Given the description of an element on the screen output the (x, y) to click on. 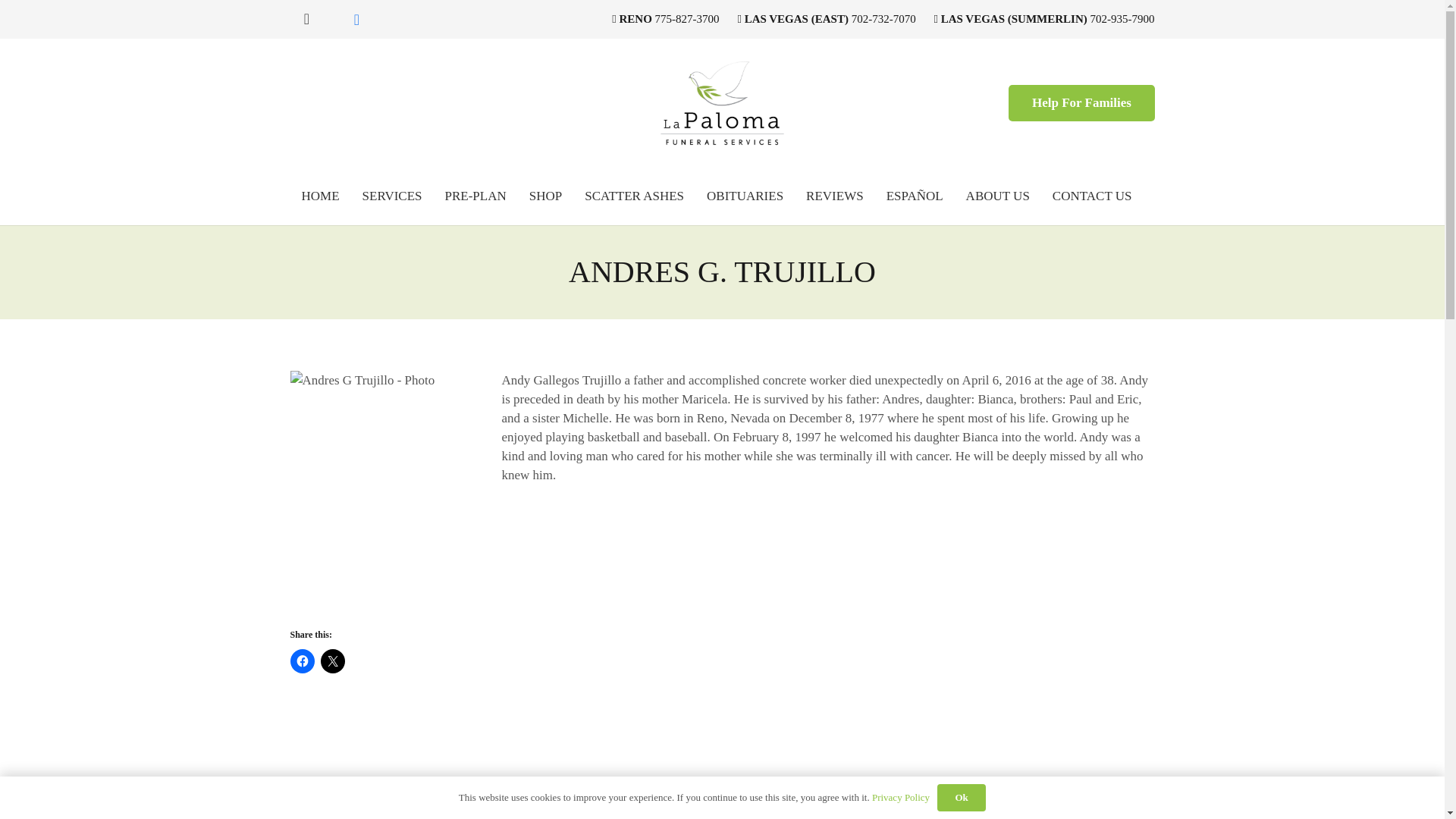
OBITUARIES (744, 196)
Leave new (347, 810)
Facebook (355, 19)
RENO 775-827-3700 (665, 19)
REVIEWS (834, 196)
CONTACT US (1091, 196)
SERVICES (391, 196)
PRE-PLAN (475, 196)
HOME (319, 196)
SCATTER ASHES (634, 196)
